Given the description of an element on the screen output the (x, y) to click on. 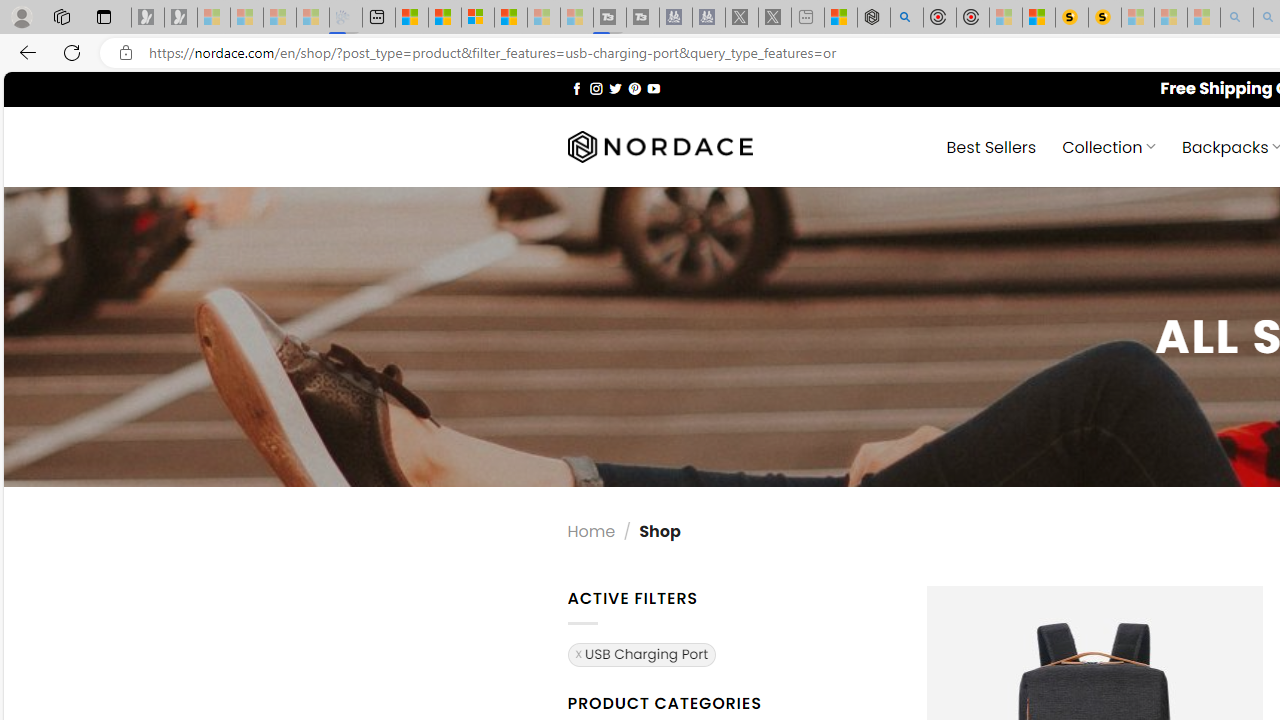
Personal Profile (21, 16)
Home (591, 530)
Follow on Twitter (615, 88)
View site information (125, 53)
Overview (478, 17)
Microsoft Start - Sleeping (543, 17)
Back (24, 52)
Workspaces (61, 16)
 Best Sellers (990, 146)
